Given the description of an element on the screen output the (x, y) to click on. 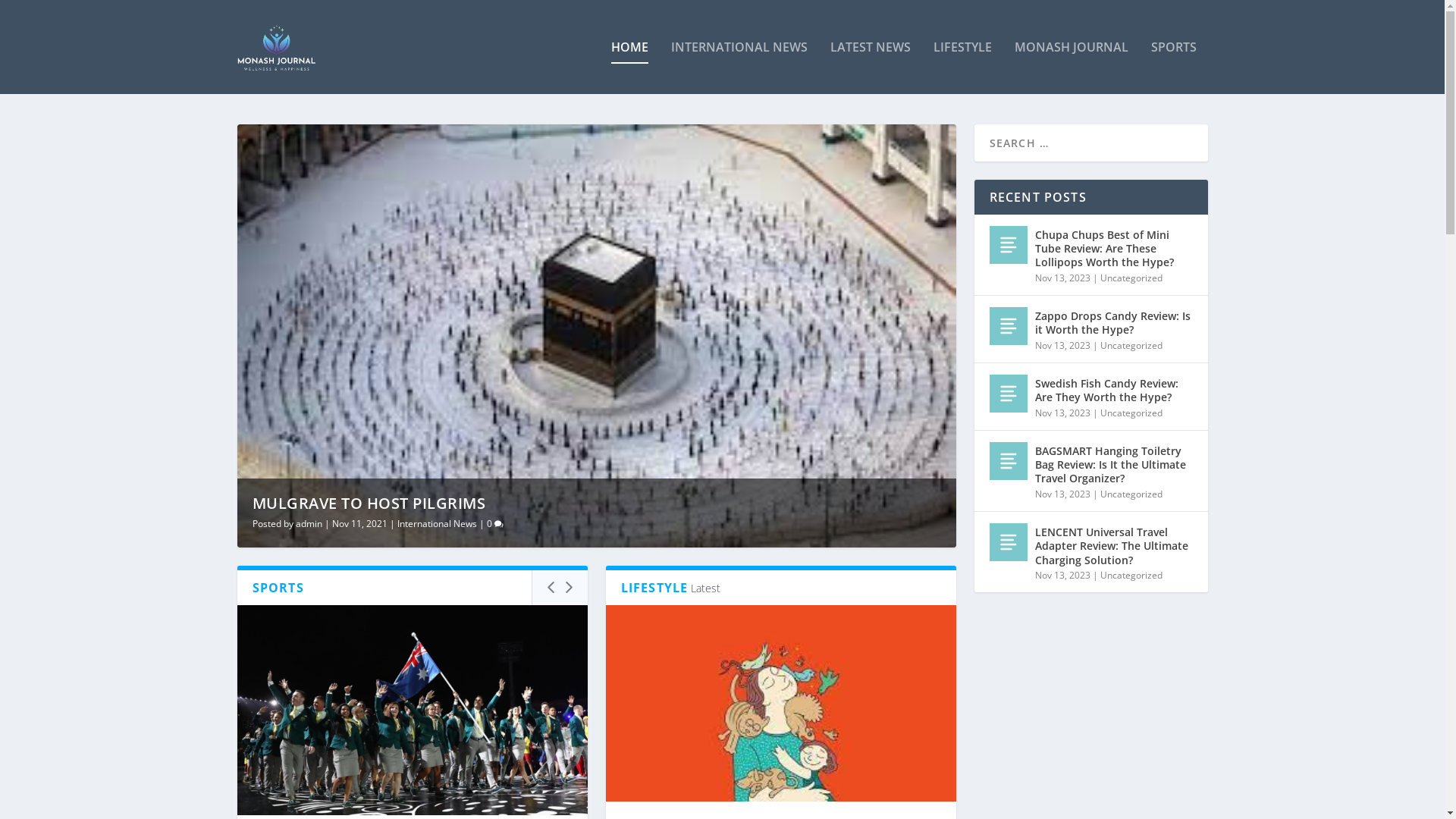
HOME Element type: text (629, 67)
Zappo Drops Candy Review: Is it Worth the Hype? Element type: hover (1007, 326)
Zappo Drops Candy Review: Is it Worth the Hype? Element type: text (1113, 322)
admin Element type: text (308, 523)
Previous Tab Element type: hover (550, 587)
Uncategorized Element type: text (1130, 574)
International News Element type: text (436, 523)
Swedish Fish Candy Review: Are They Worth the Hype? Element type: text (1113, 390)
0 Element type: text (494, 523)
INTERNATIONAL NEWS Element type: text (738, 67)
SPORTS Element type: text (1173, 67)
New housemates pleased to have flown the nest at last Element type: hover (780, 703)
Uncategorized Element type: text (1130, 493)
Uncategorized Element type: text (1130, 277)
Search Element type: text (29, 14)
LIFESTYLE Element type: text (961, 67)
comment count Element type: hover (498, 524)
Swedish Fish Candy Review: Are They Worth the Hype? Element type: hover (1007, 393)
Next Tab Element type: hover (568, 587)
Top 10 Most Famous Games in Australia Element type: hover (411, 710)
MULGRAVE TO HOST PILGRIMS Element type: text (368, 502)
LATEST NEWS Element type: text (869, 67)
Uncategorized Element type: text (1130, 412)
MONASH JOURNAL Element type: text (1071, 67)
Uncategorized Element type: text (1130, 344)
